Given the description of an element on the screen output the (x, y) to click on. 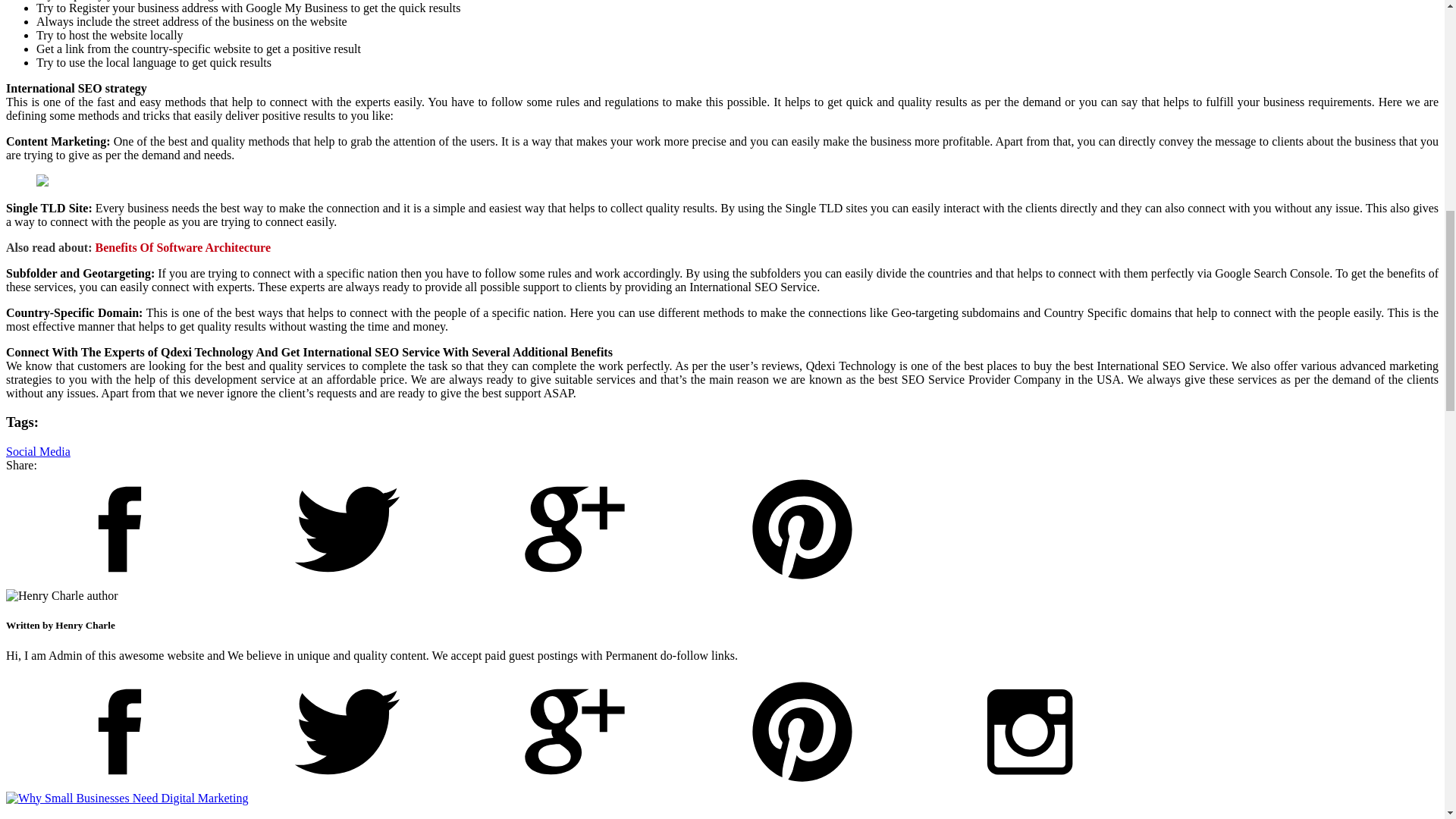
Benefits Of Software Architecture (183, 246)
Social Media (37, 451)
Benefits Of Software Architecture (183, 246)
Why Small Businesses Need Digital Marketing (126, 798)
Henry Charle author (61, 595)
